Given the description of an element on the screen output the (x, y) to click on. 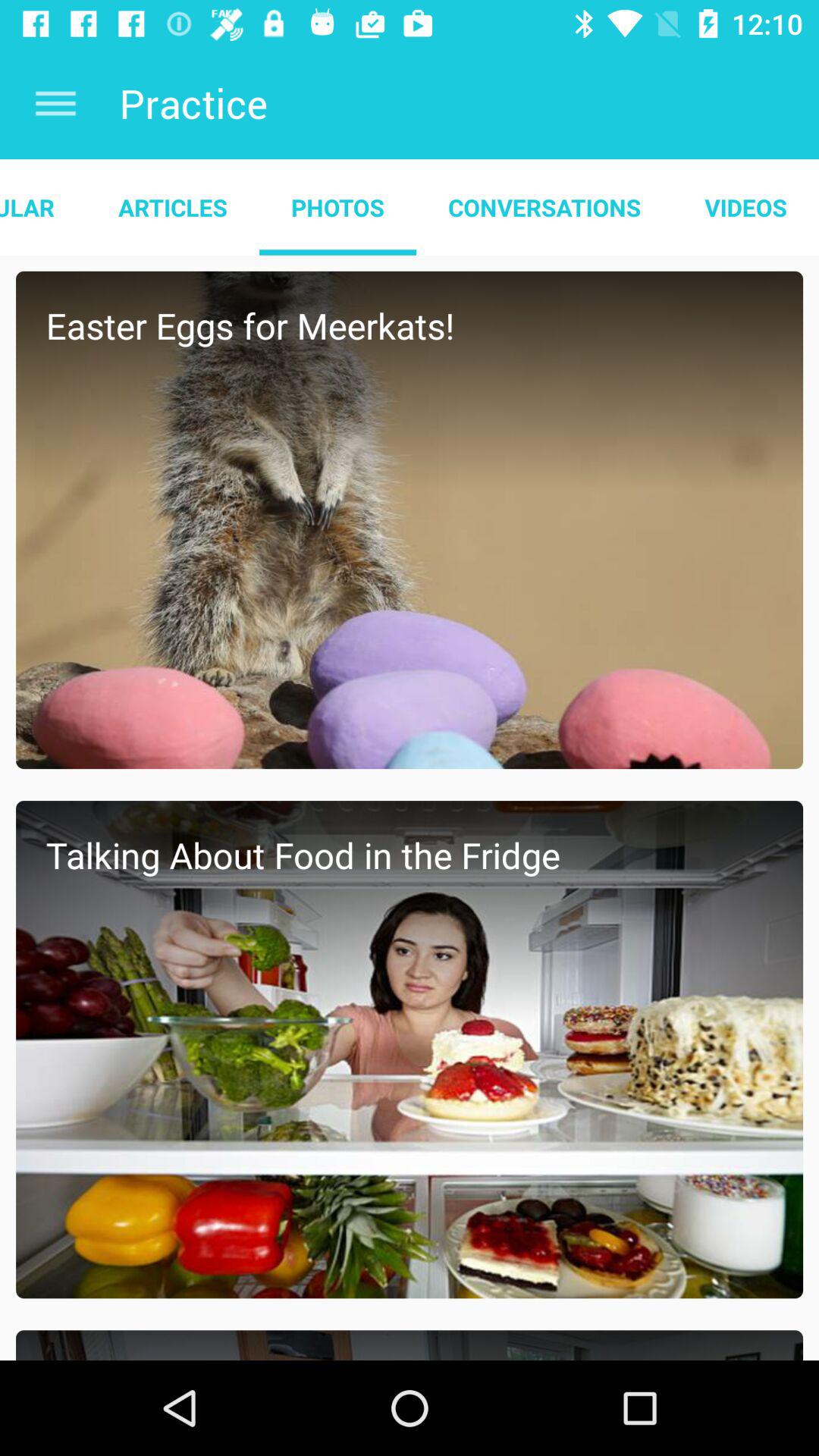
press the item to the left of practice (55, 103)
